Given the description of an element on the screen output the (x, y) to click on. 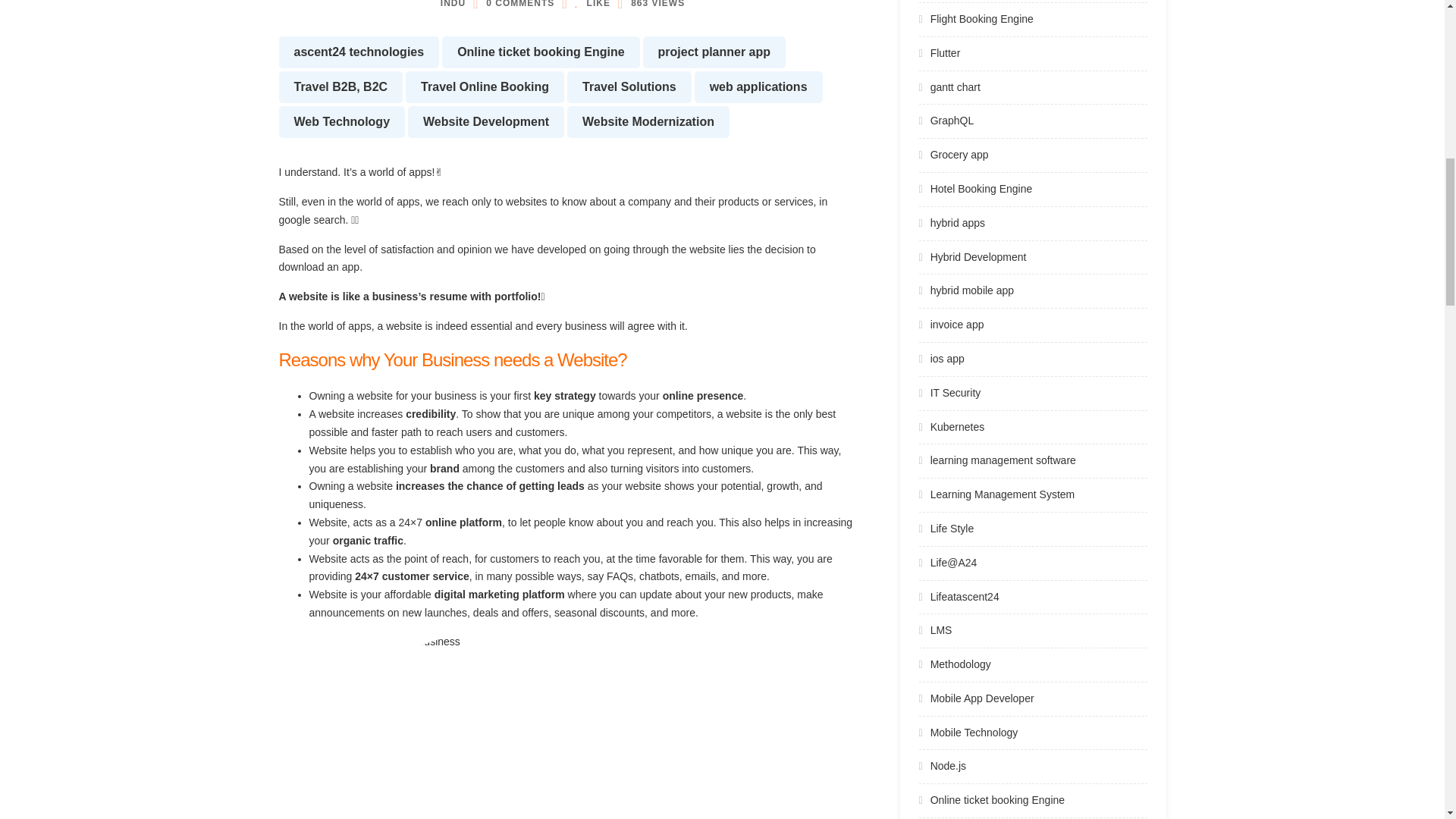
Travel Online Booking (485, 87)
Website Development (485, 122)
ascent24 technologies (359, 51)
Web Technology (342, 122)
web applications (758, 87)
INDU (453, 4)
Like (592, 4)
Online ticket booking Engine (540, 51)
Travel B2B, B2C (341, 87)
Travel Solutions (629, 87)
